Given the description of an element on the screen output the (x, y) to click on. 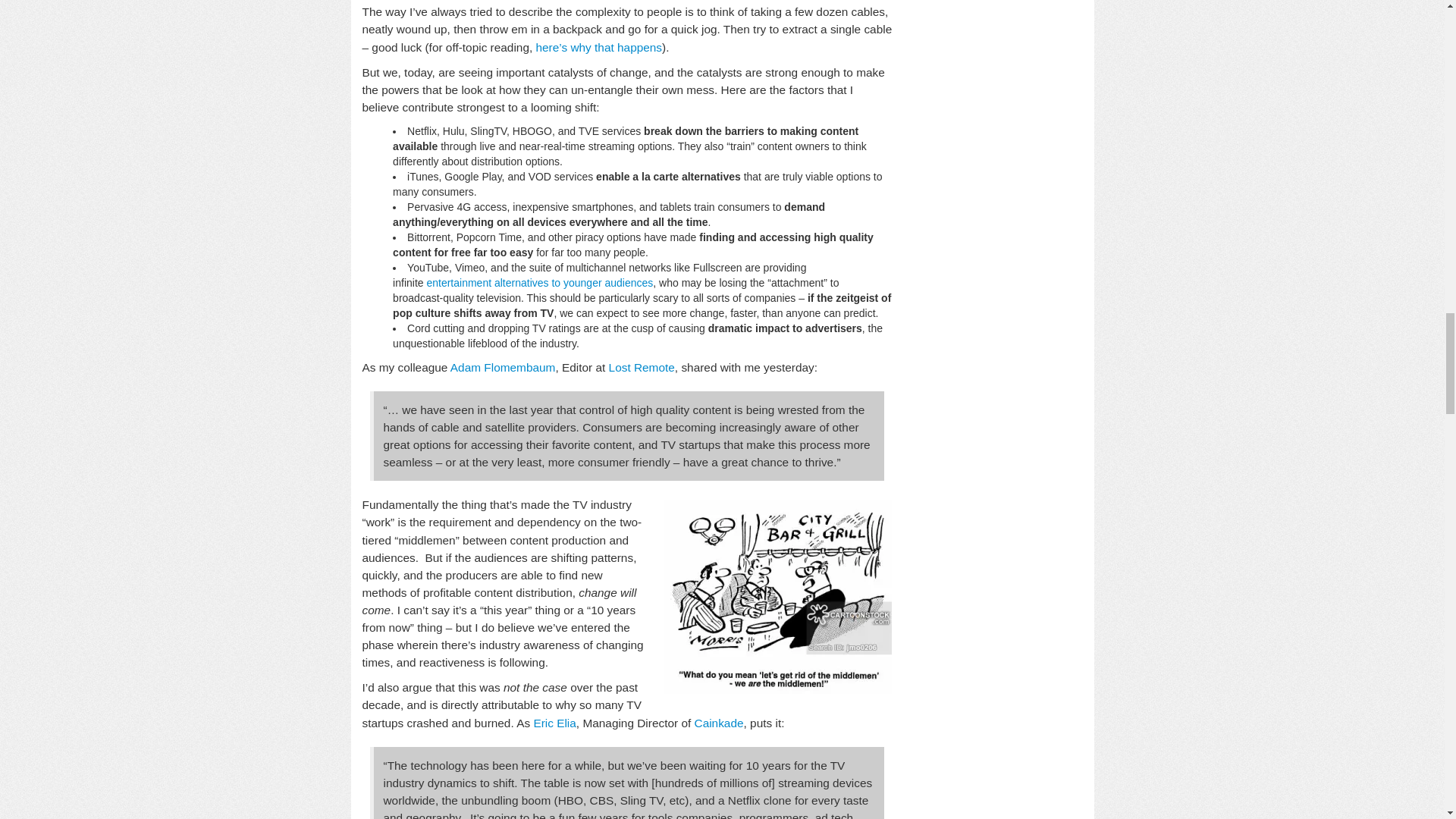
Adam Flomembaum (502, 367)
entertainment alternatives to younger audiences (539, 282)
Eric Elia (553, 721)
Cainkade (719, 721)
Lost Remote (641, 367)
